Given the description of an element on the screen output the (x, y) to click on. 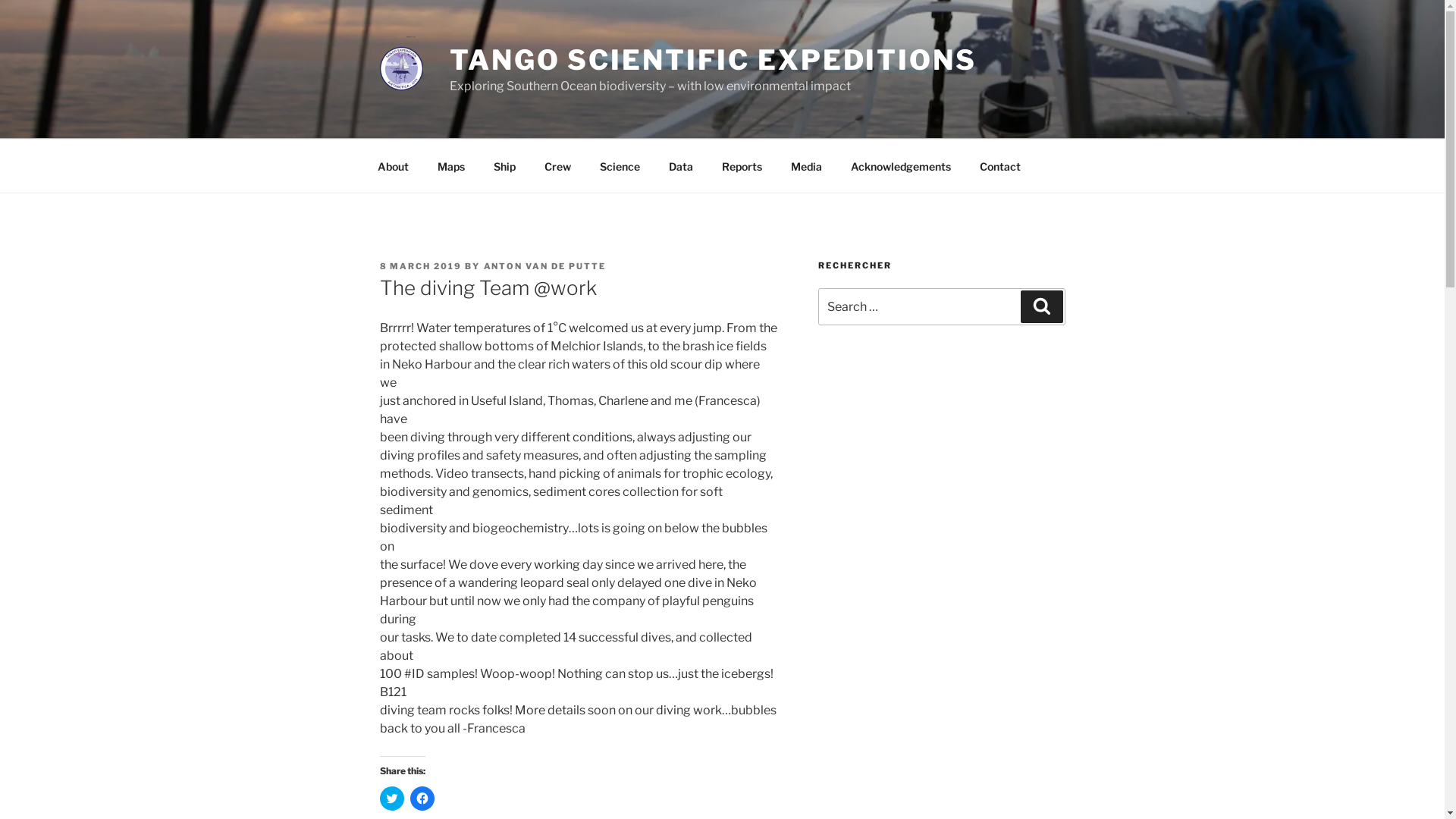
Ship Element type: text (504, 165)
Crew Element type: text (556, 165)
Data Element type: text (680, 165)
Maps Element type: text (451, 165)
Science Element type: text (619, 165)
Click to share on Facebook (Opens in new window) Element type: text (421, 798)
Media Element type: text (806, 165)
Search Element type: text (1041, 306)
About Element type: text (392, 165)
8 MARCH 2019 Element type: text (420, 265)
TANGO SCIENTIFIC EXPEDITIONS Element type: text (712, 59)
Contact Element type: text (999, 165)
ANTON VAN DE PUTTE Element type: text (544, 265)
Click to share on Twitter (Opens in new window) Element type: text (391, 798)
Reports Element type: text (741, 165)
Acknowledgements Element type: text (900, 165)
